Given the description of an element on the screen output the (x, y) to click on. 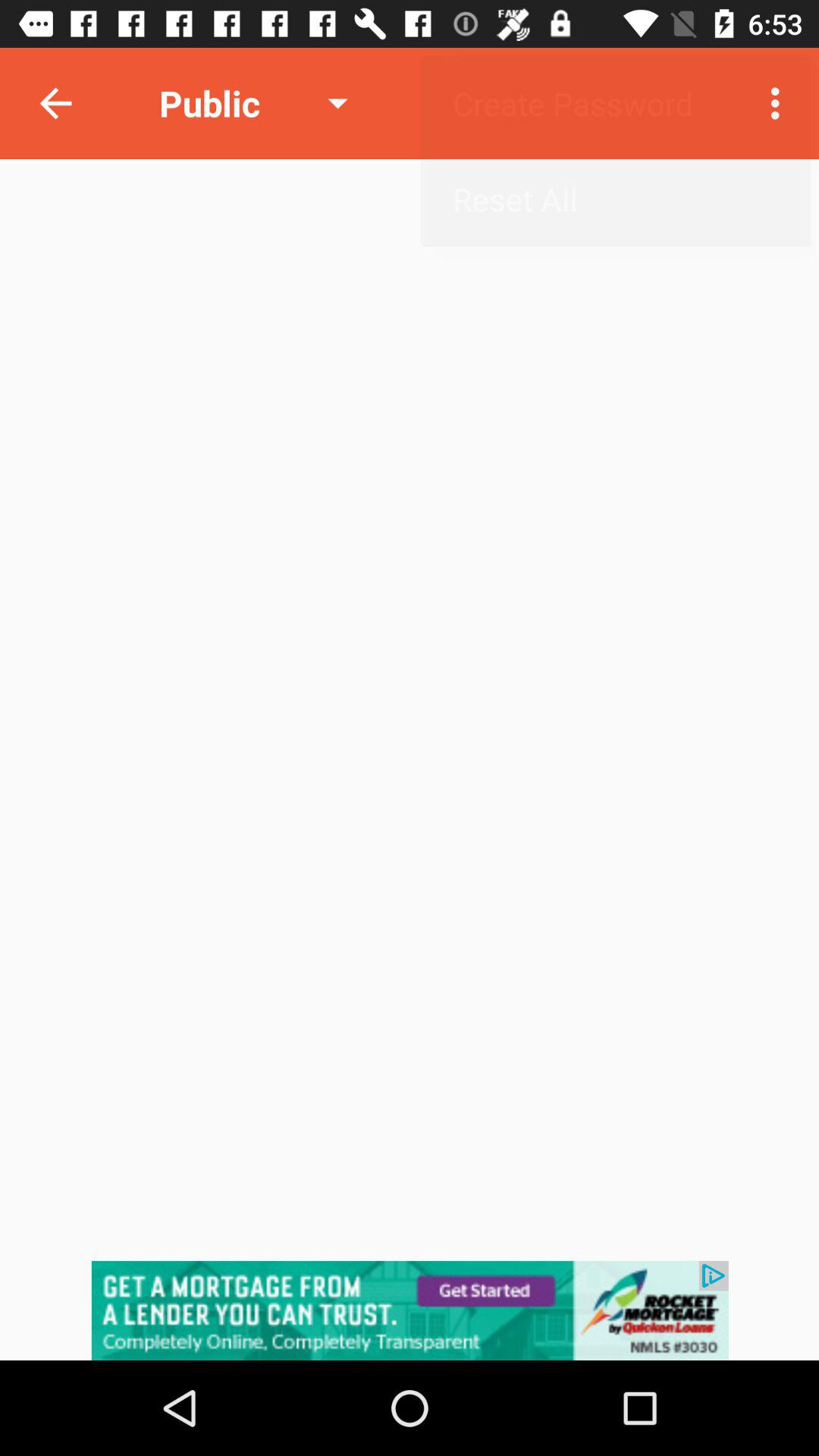
menu page (409, 1310)
